Given the description of an element on the screen output the (x, y) to click on. 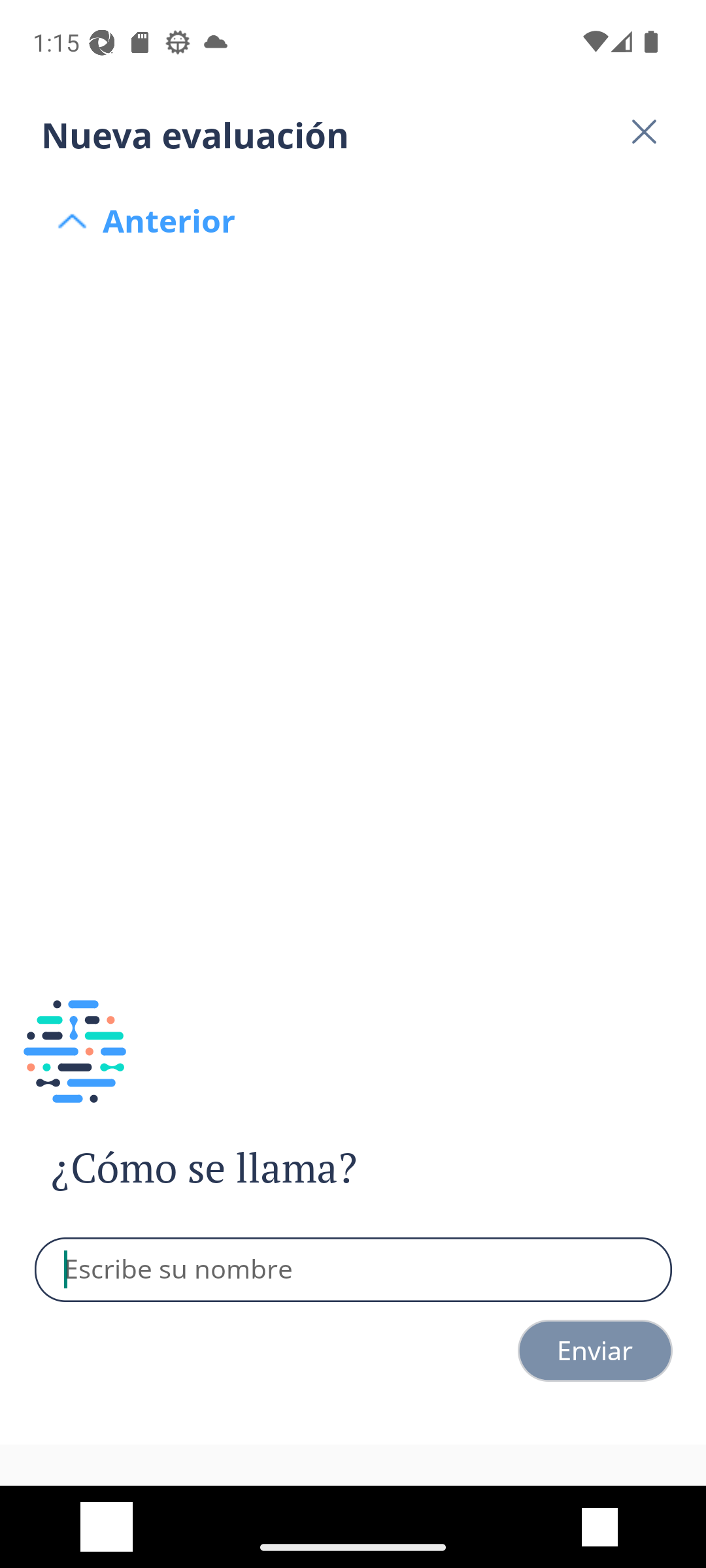
undo Anterior (353, 162)
¿Cómo se llama? (240, 1168)
Escribe su nombre (353, 1269)
Enviar (594, 1349)
